Given the description of an element on the screen output the (x, y) to click on. 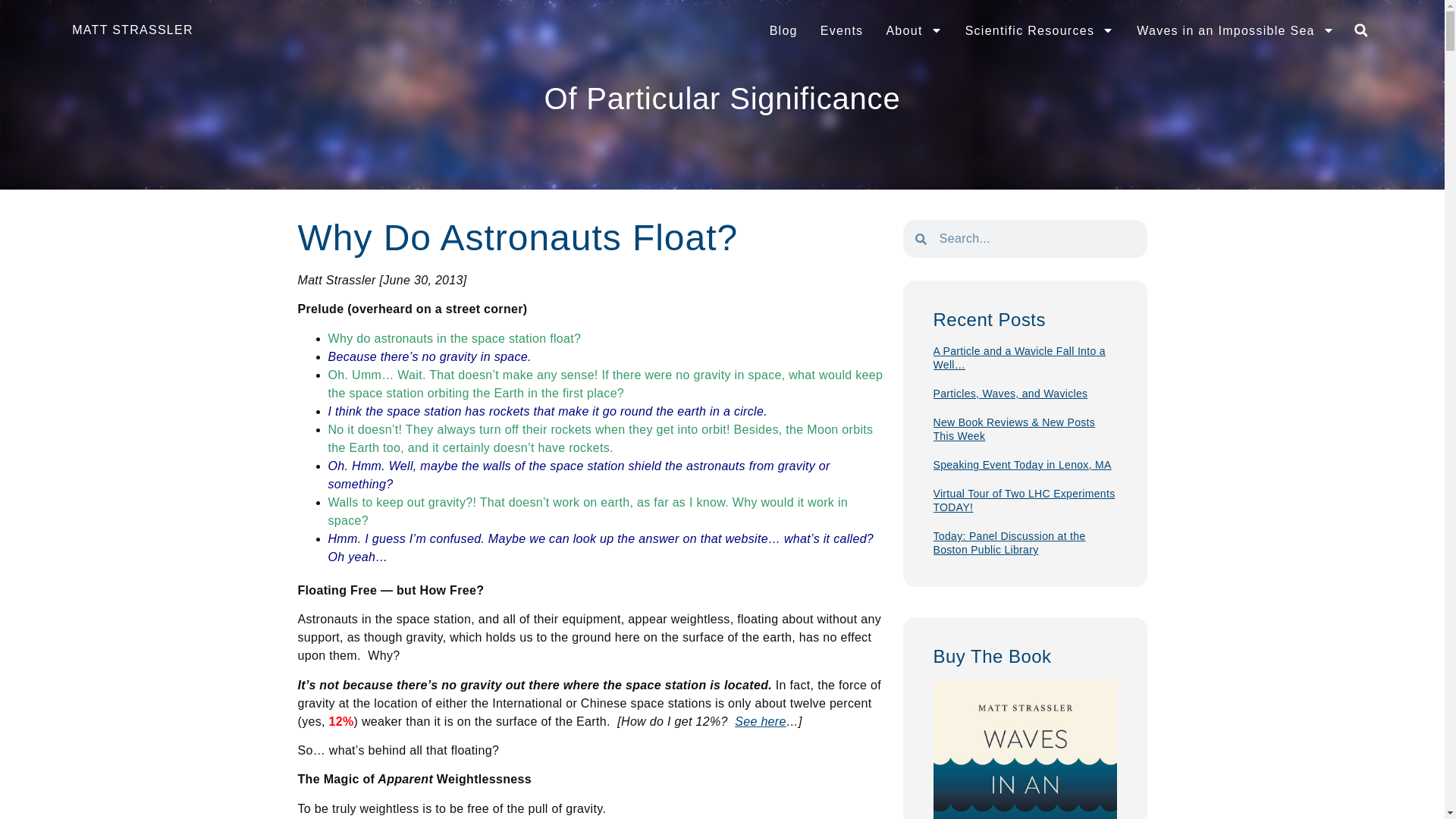
Scientific Resources (1040, 30)
Waves in an Impossible Sea (1236, 30)
Blog (783, 30)
About (913, 30)
MATT STRASSLER (132, 29)
Events (842, 30)
See here (760, 721)
